Given the description of an element on the screen output the (x, y) to click on. 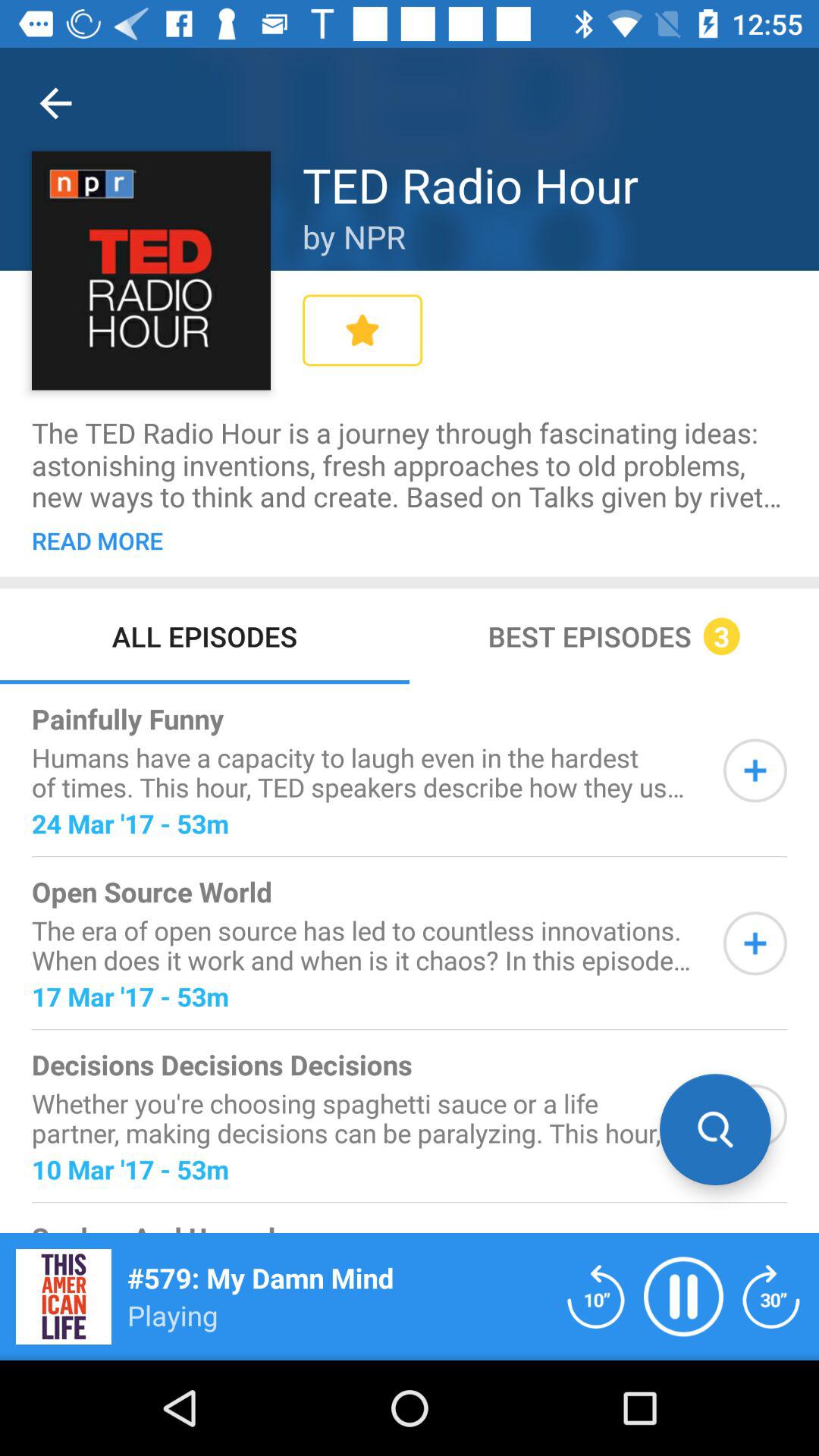
go back 10 seconds (595, 1296)
